Given the description of an element on the screen output the (x, y) to click on. 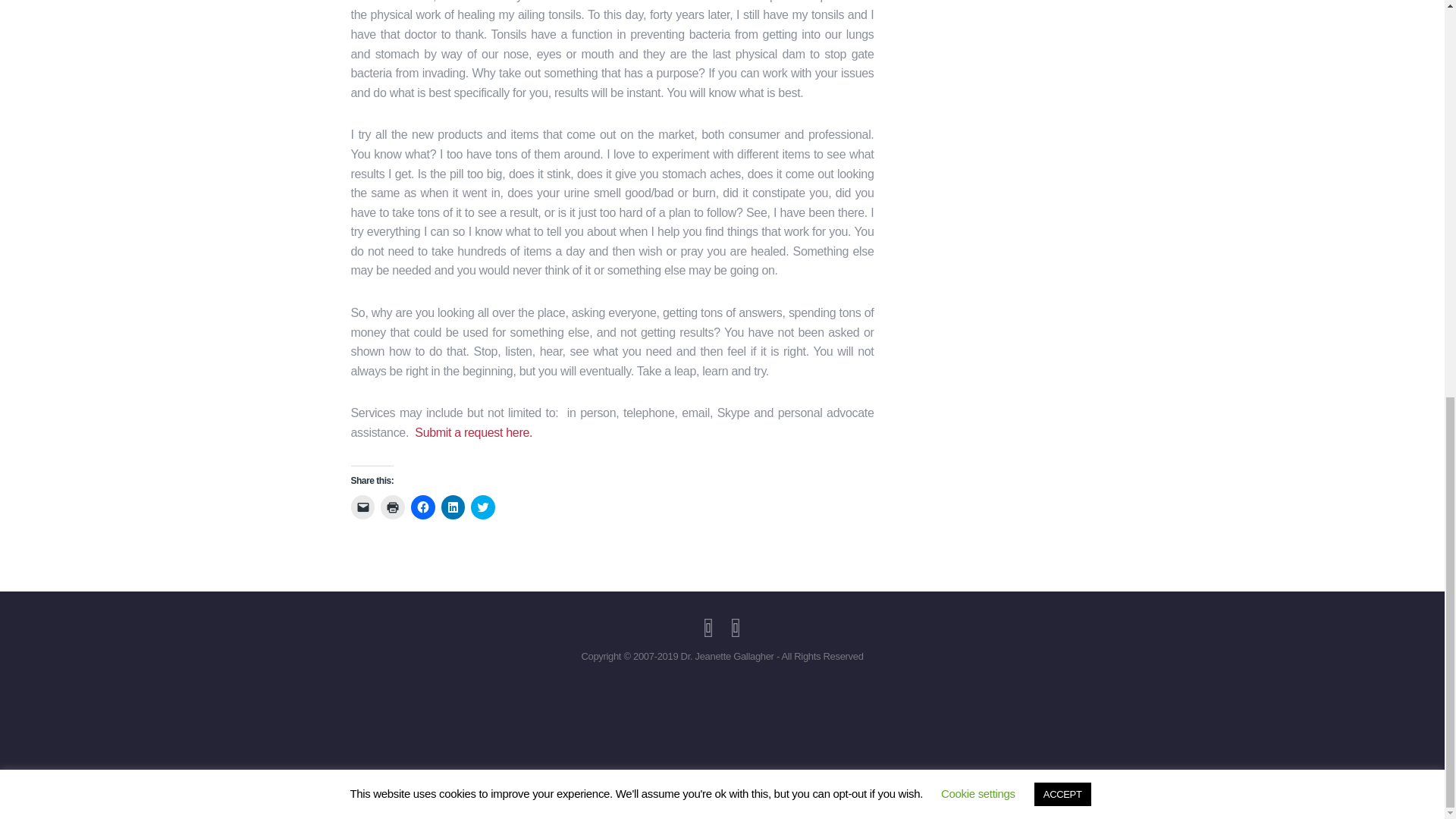
Click to print (392, 507)
Click to share on Twitter (482, 507)
Contact Us (473, 431)
Click to share on LinkedIn (453, 507)
Click to email a link to a friend (362, 507)
Click to share on Facebook (422, 507)
